Given the description of an element on the screen output the (x, y) to click on. 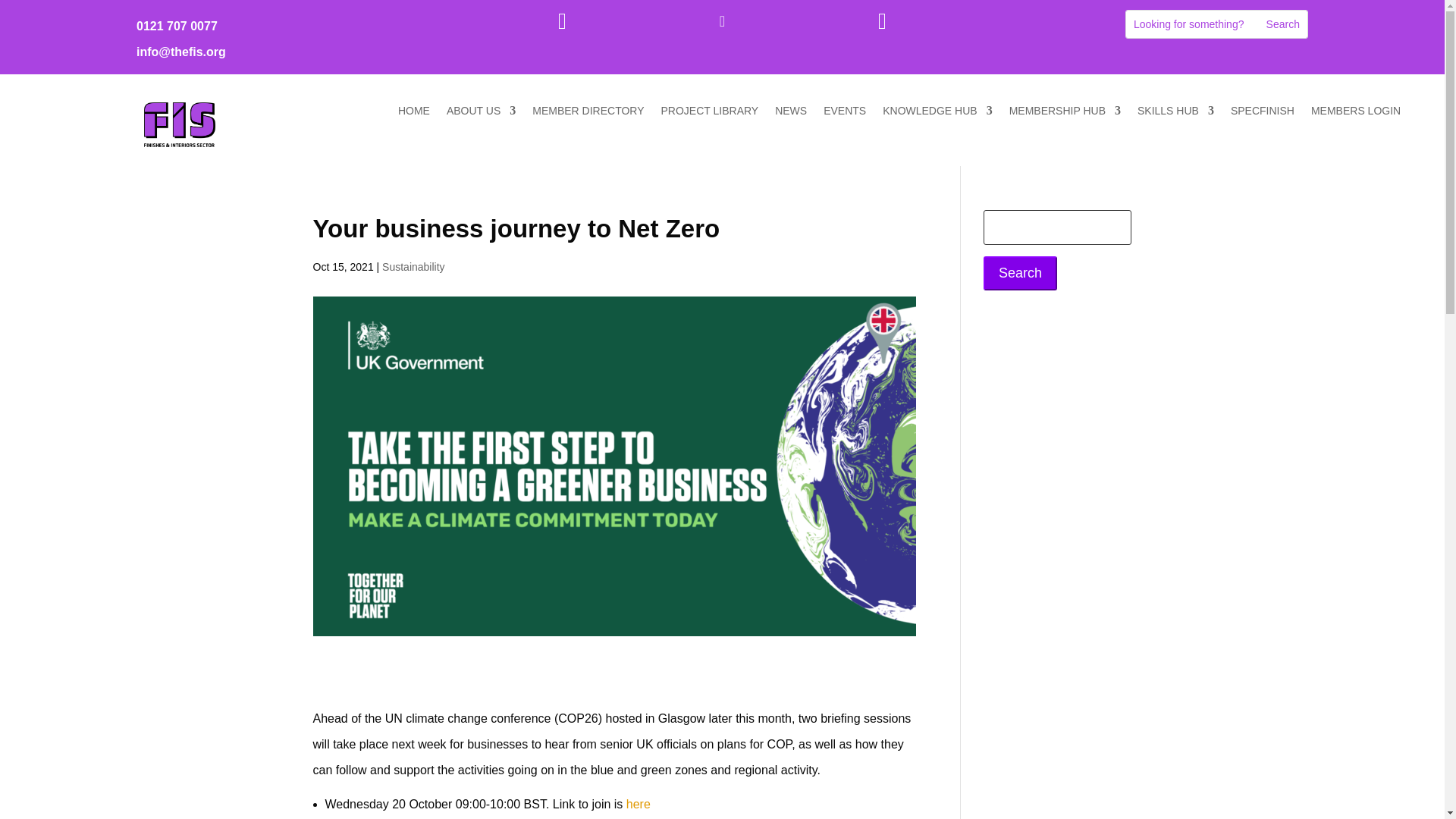
NEWS (790, 113)
PROJECT LIBRARY (709, 113)
MEMBERSHIP HUB (1065, 113)
Search (1283, 23)
EVENTS (845, 113)
KNOWLEDGE HUB (936, 113)
Search (1283, 23)
ABOUT US (480, 113)
MEMBER DIRECTORY (587, 113)
Search (1020, 273)
HOME (413, 113)
Search (1283, 23)
